Given the description of an element on the screen output the (x, y) to click on. 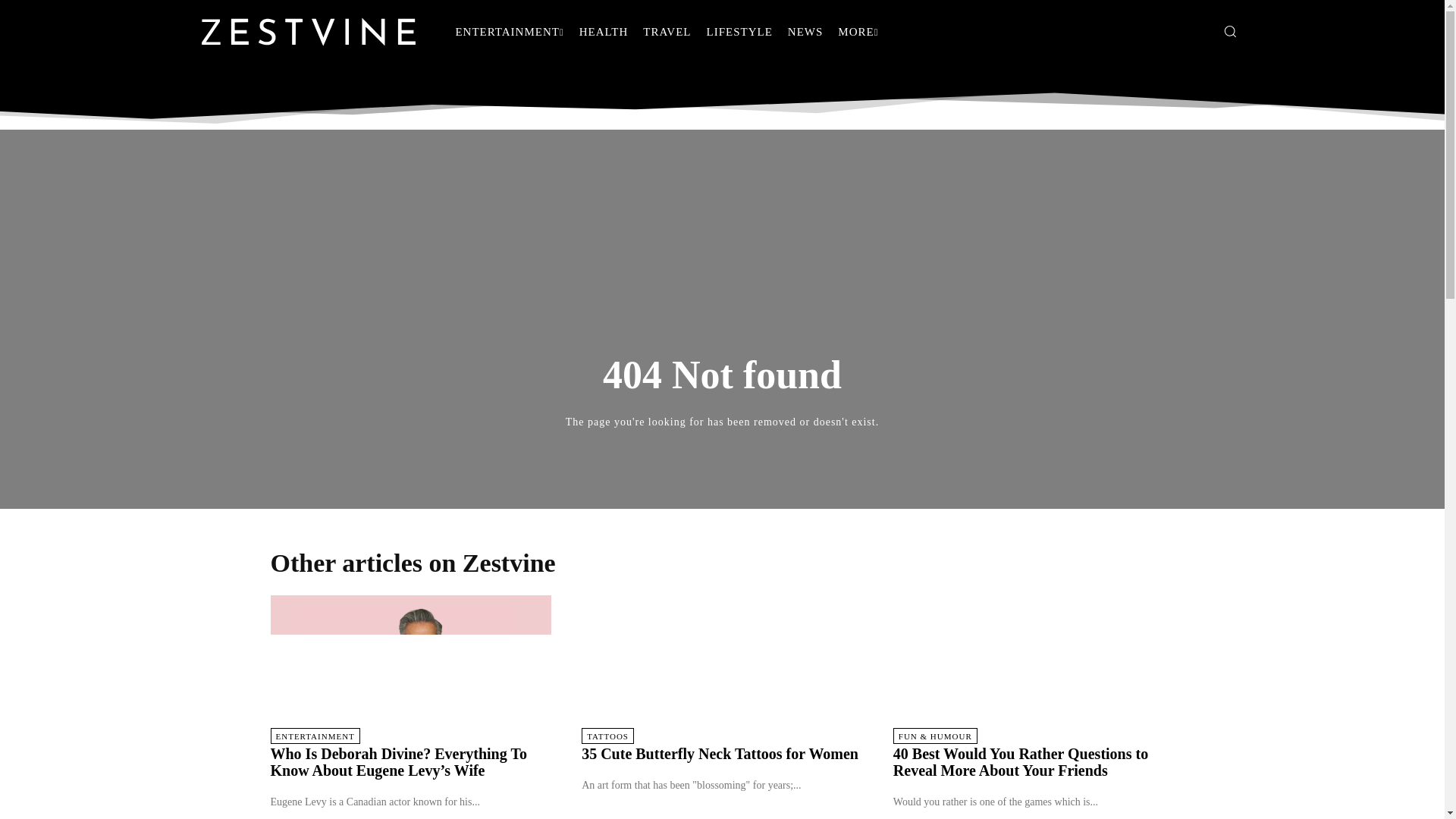
ZestVine (307, 31)
LIFESTYLE (739, 31)
HEALTH (604, 31)
35 Cute Butterfly Neck Tattoos for Women (721, 665)
ENTERTAINMENT (508, 31)
35 Cute Butterfly Neck Tattoos for Women (719, 753)
TRAVEL (666, 31)
